Given the description of an element on the screen output the (x, y) to click on. 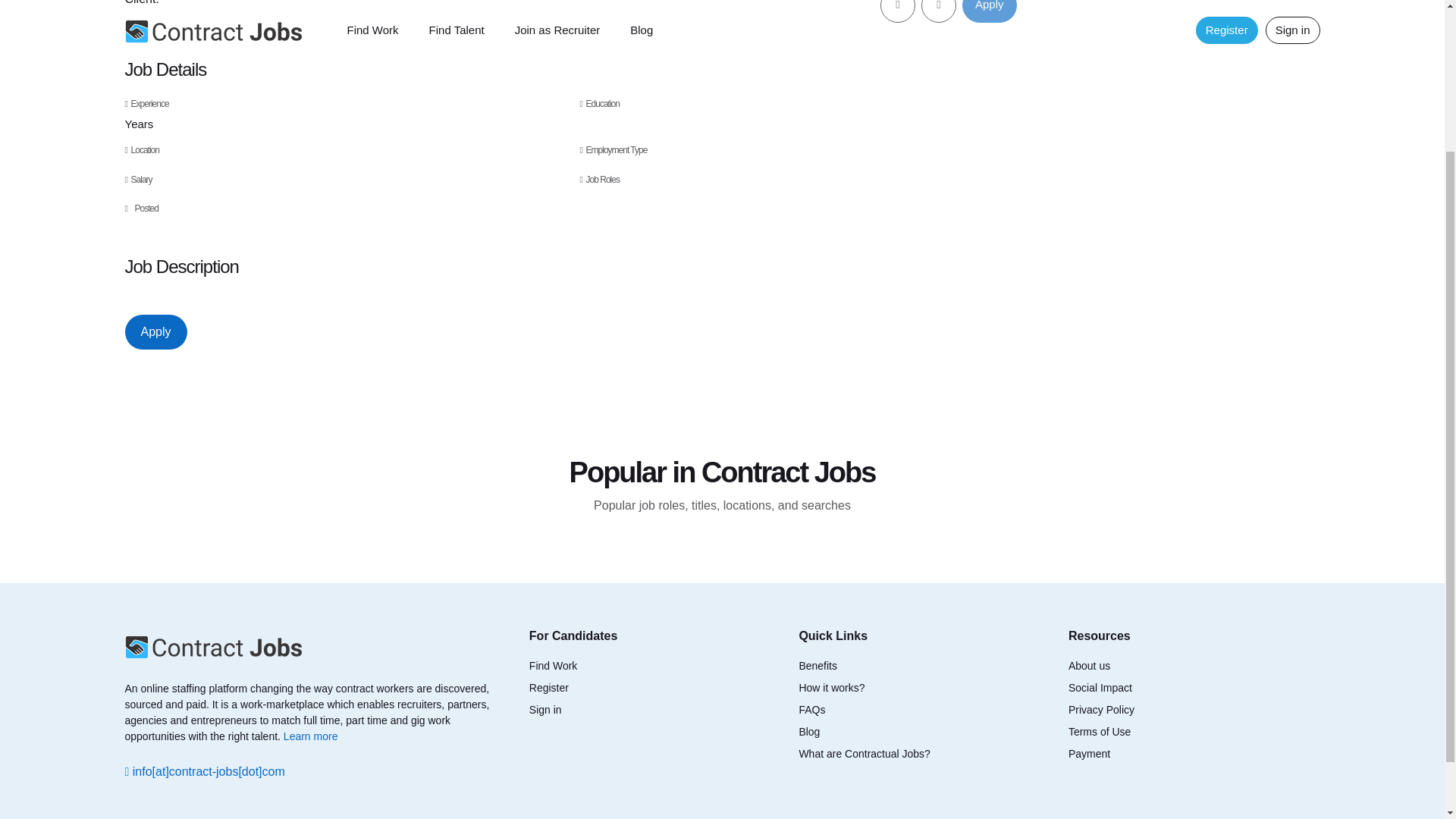
How it works? (830, 687)
Apply (989, 11)
Benefits (817, 665)
Share (938, 11)
Learn more (310, 736)
Register (549, 687)
Sign in (545, 709)
Find Work (553, 665)
Apply (154, 331)
